Given the description of an element on the screen output the (x, y) to click on. 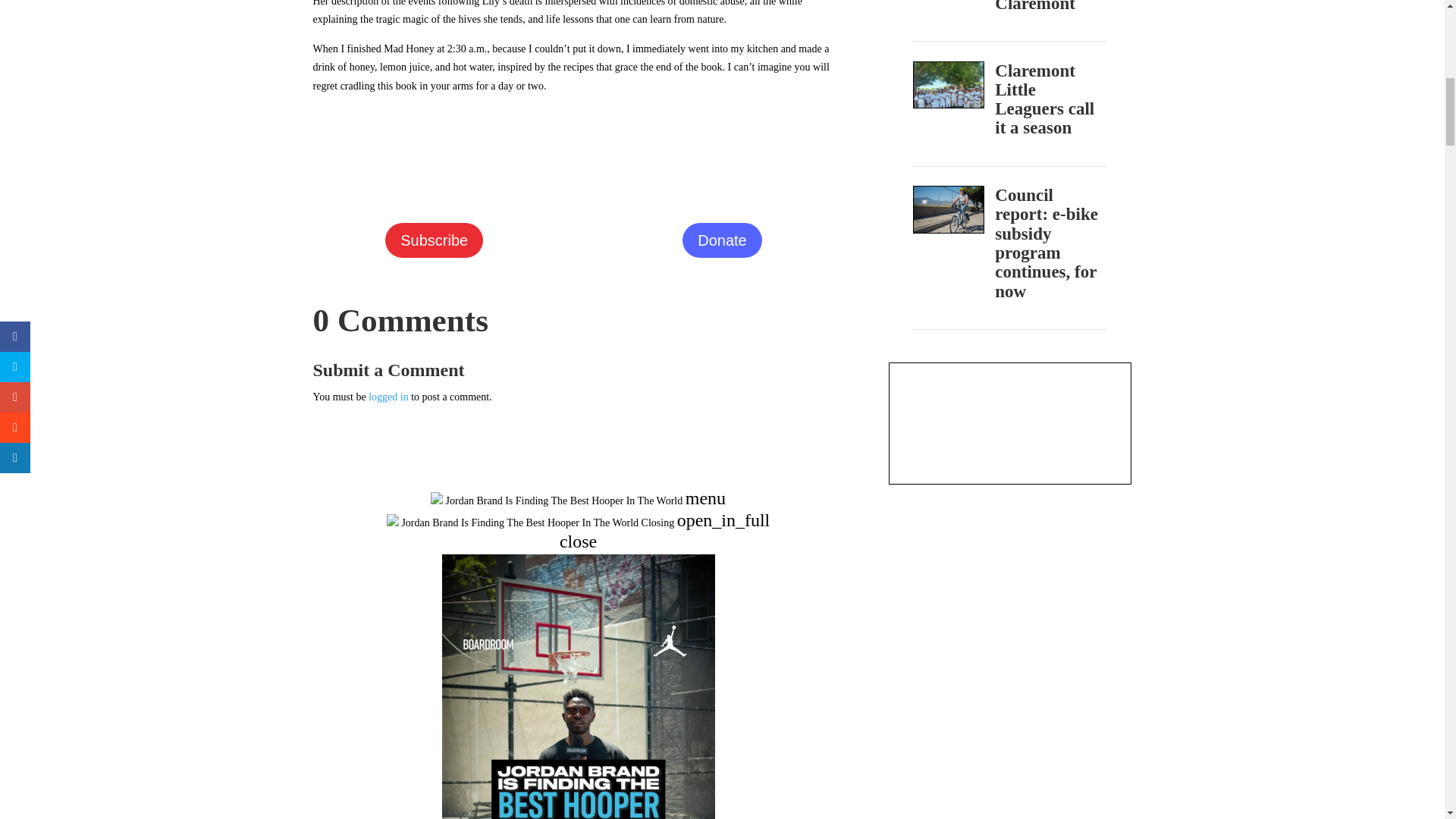
aa.council-report-2.WEB (949, 209)
